Given the description of an element on the screen output the (x, y) to click on. 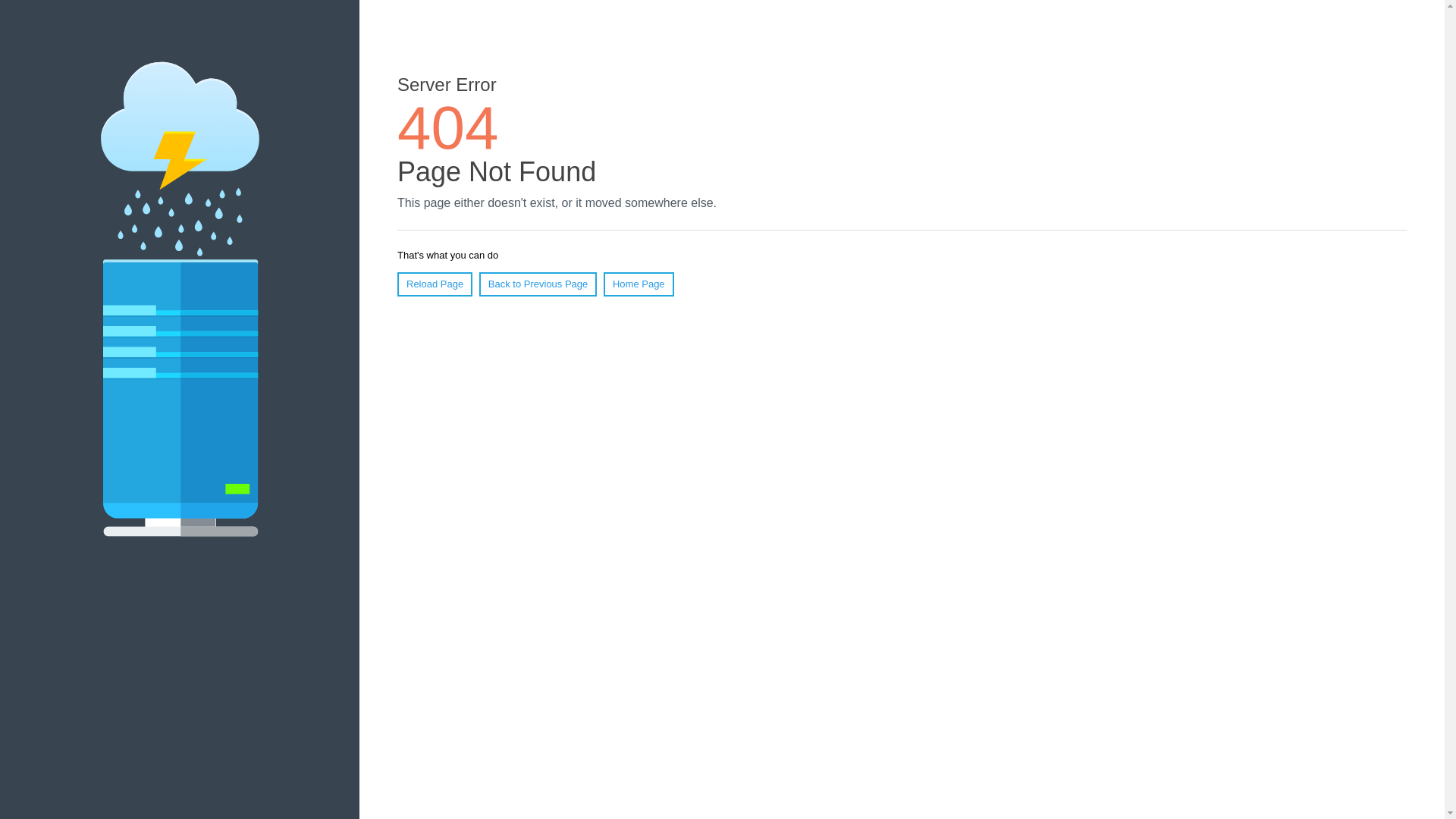
Back to Previous Page Element type: text (538, 284)
Reload Page Element type: text (434, 284)
Home Page Element type: text (638, 284)
